Given the description of an element on the screen output the (x, y) to click on. 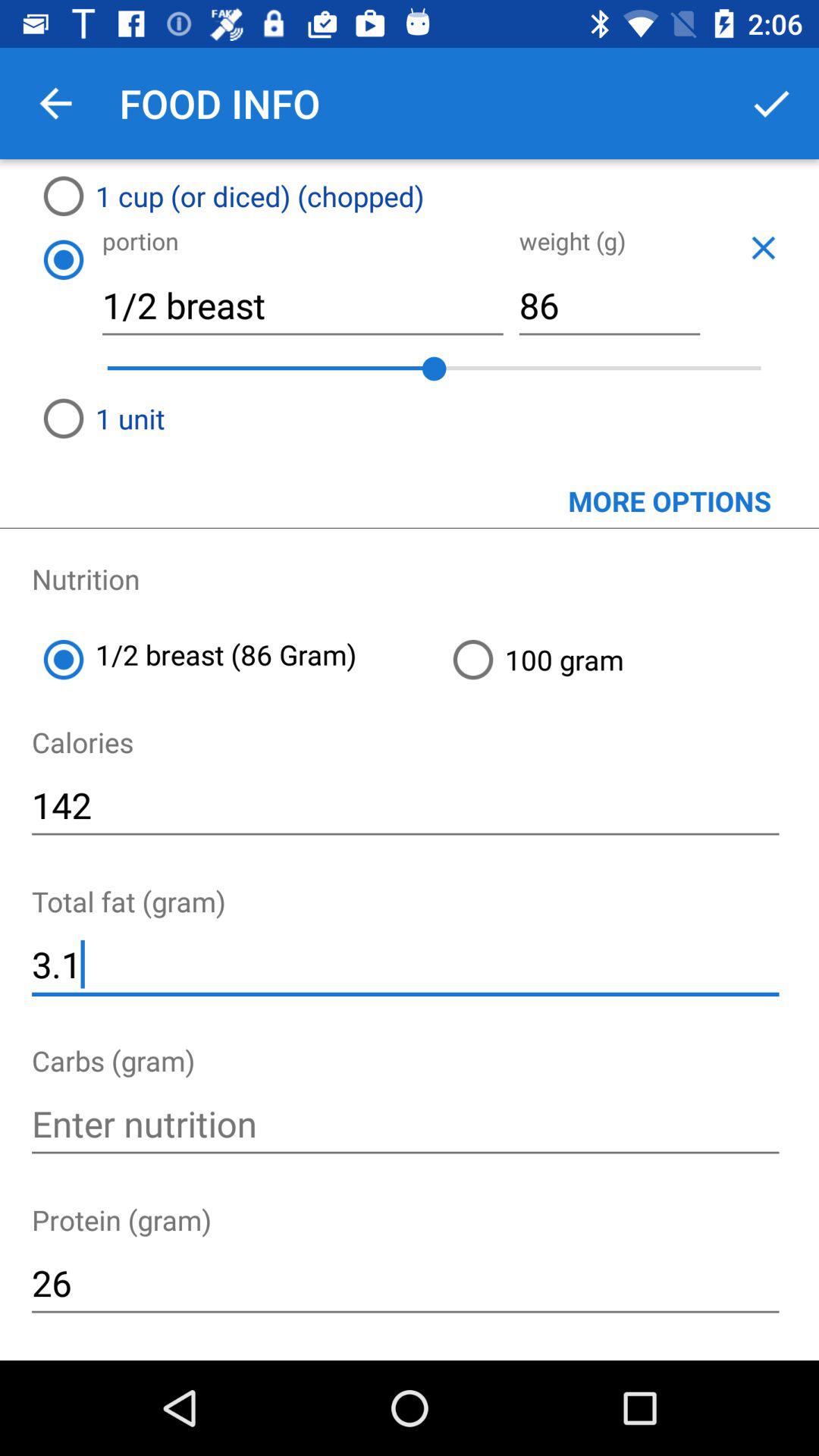
launch icon next to 1 2 breast (630, 659)
